Given the description of an element on the screen output the (x, y) to click on. 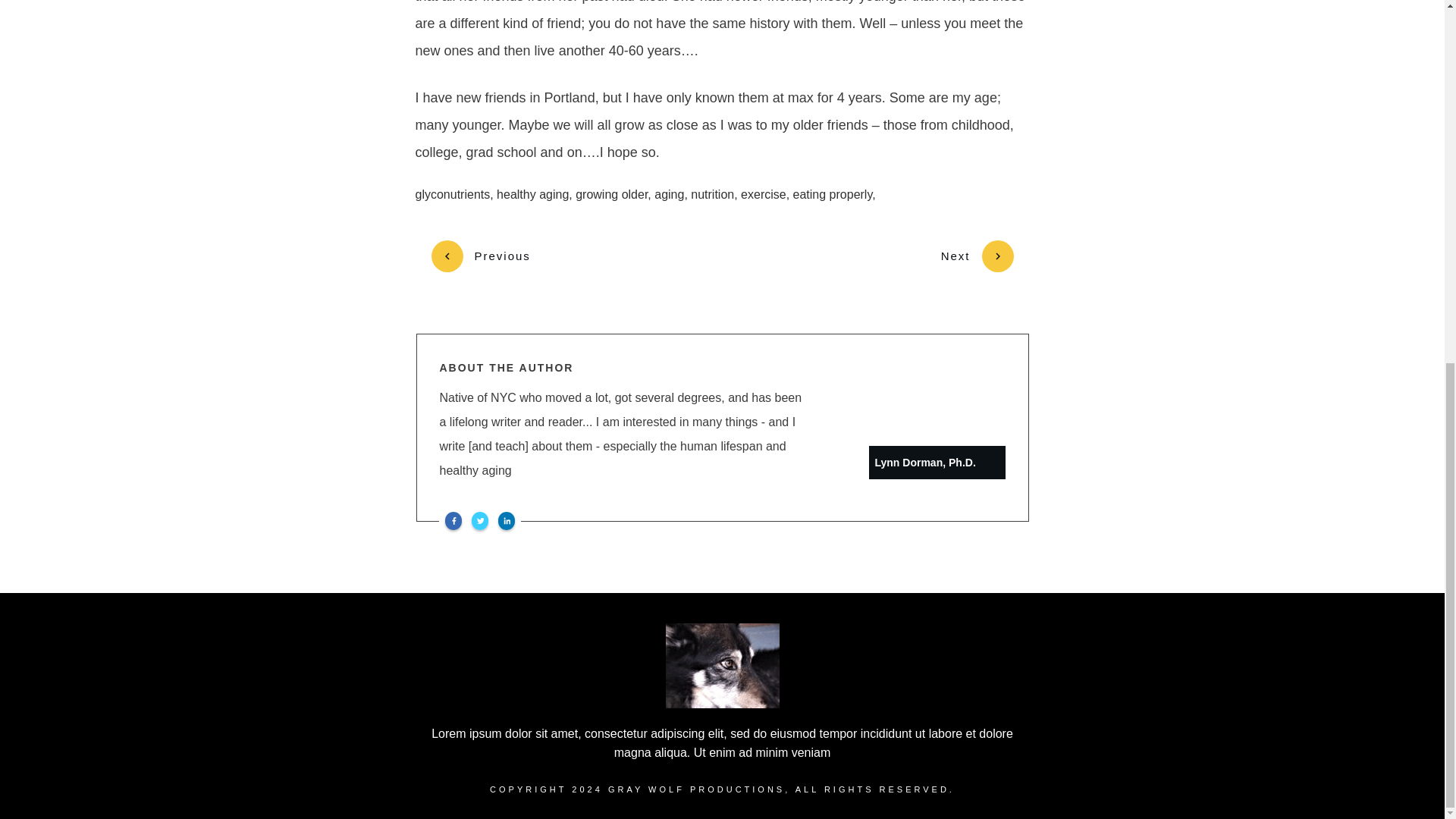
Next (976, 255)
Previous (479, 255)
